Given the description of an element on the screen output the (x, y) to click on. 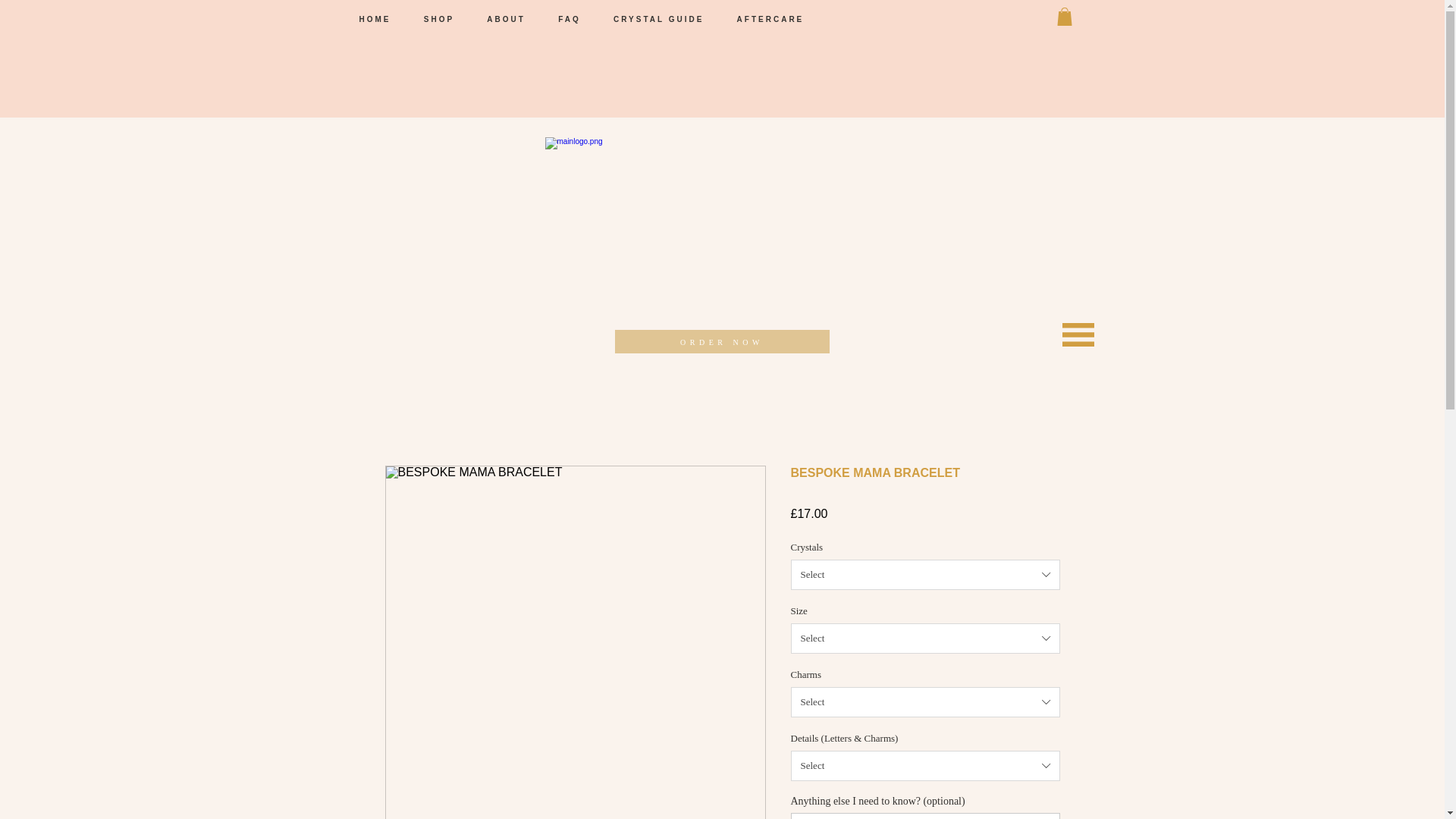
Select (924, 766)
HOME (381, 19)
Select (924, 638)
Select (924, 702)
Select (924, 574)
AFTERCARE (776, 19)
SHOP (445, 19)
ABOUT (511, 19)
CRYSTAL GUIDE (664, 19)
FAQ (574, 19)
ORDER NOW (721, 341)
